Given the description of an element on the screen output the (x, y) to click on. 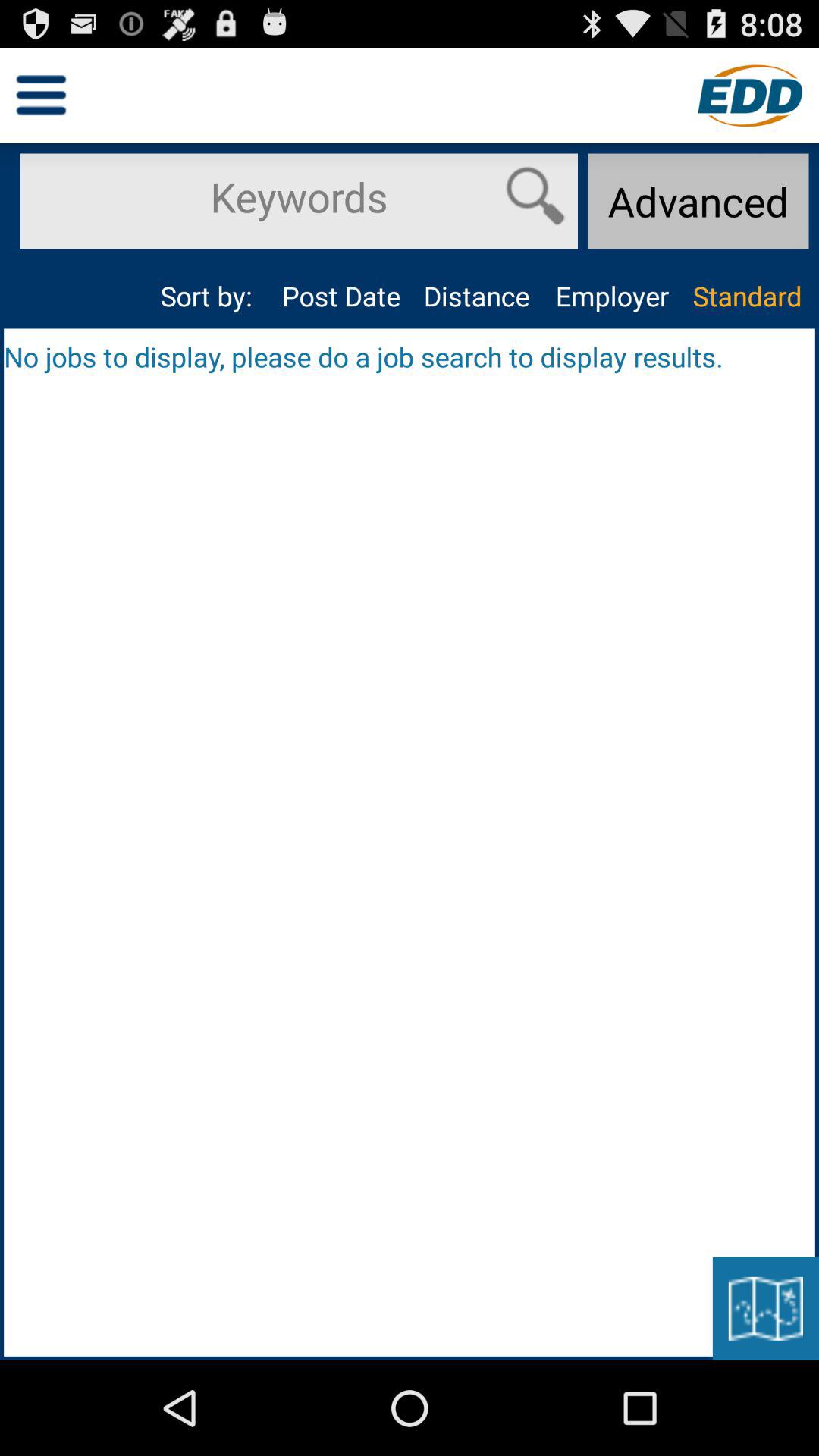
flip to distance icon (476, 295)
